Given the description of an element on the screen output the (x, y) to click on. 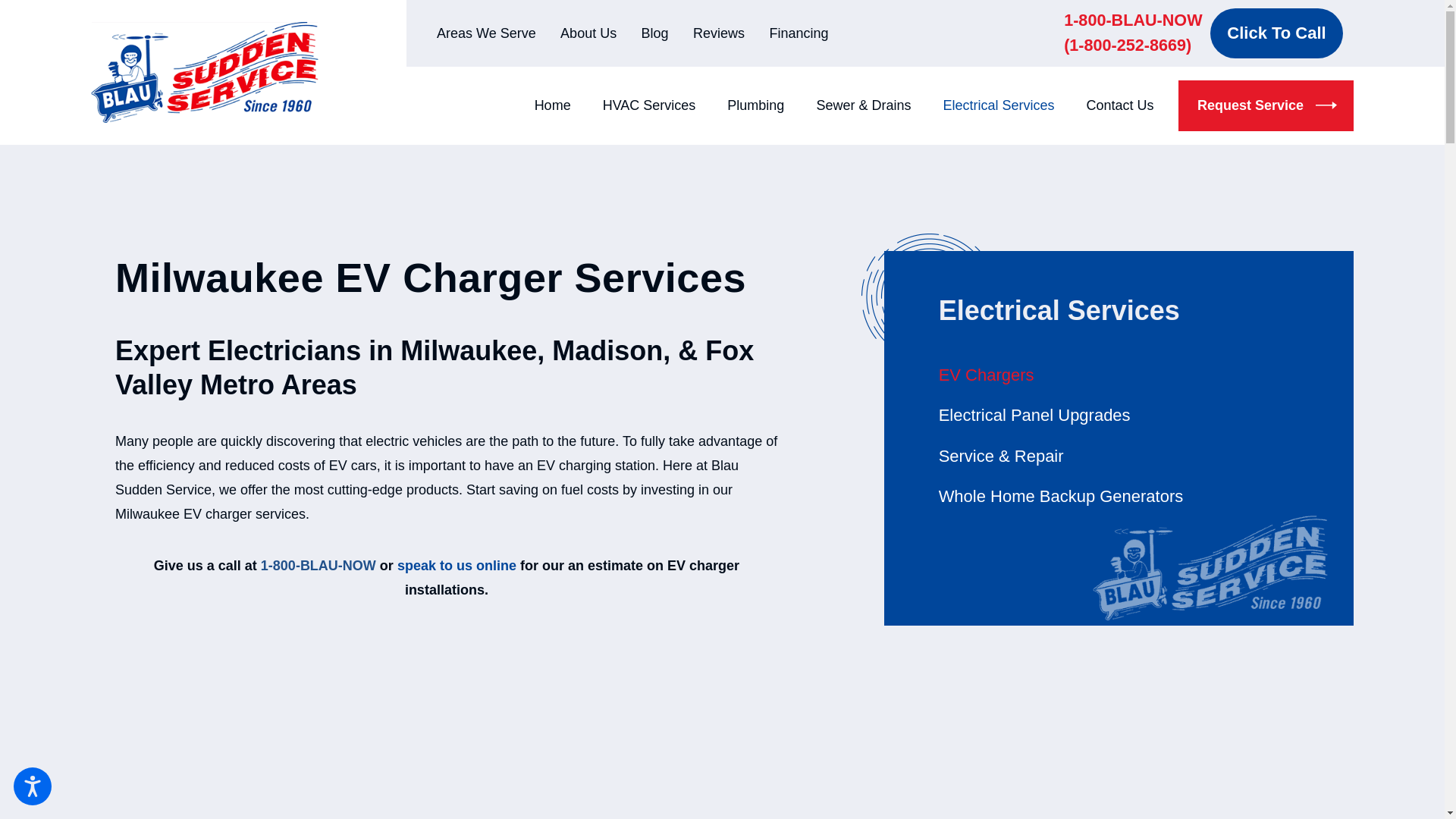
Financing (798, 32)
Click To Call (1275, 33)
Reviews (718, 32)
About Us (587, 32)
HVAC Services (648, 105)
Plumbing (755, 105)
Blog (655, 32)
Home (560, 105)
Open the accessibility options menu (31, 786)
Blau Sudden Service (204, 72)
